Given the description of an element on the screen output the (x, y) to click on. 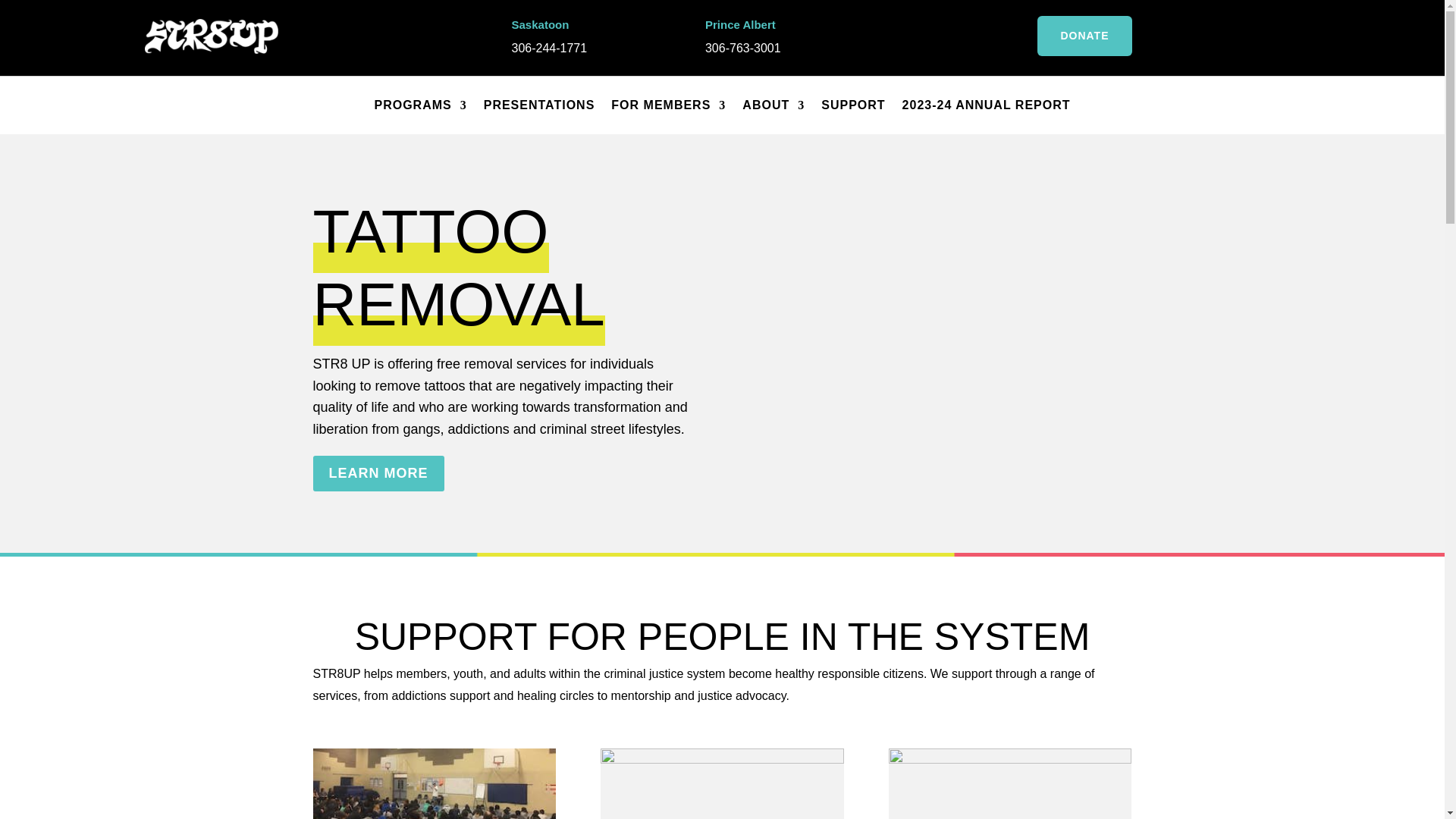
PROGRAMS (419, 105)
FOR MEMBERS (668, 105)
PRESENTATIONS (539, 105)
ABOUT (773, 105)
SUPPORT (853, 105)
DONATE (1083, 35)
2023-24 ANNUAL REPORT (986, 105)
give-back (1009, 783)
